Given the description of an element on the screen output the (x, y) to click on. 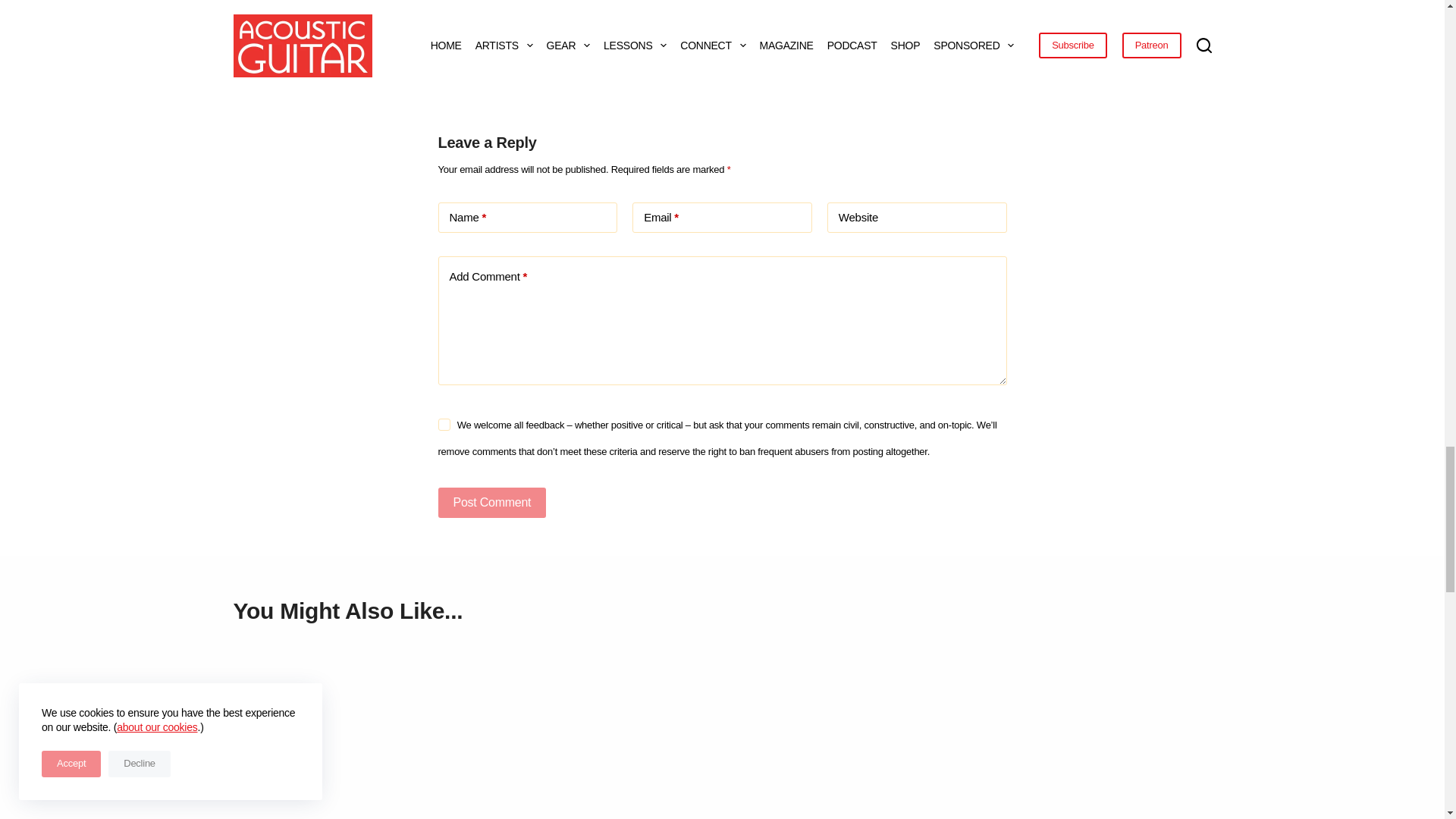
on (443, 424)
